Given the description of an element on the screen output the (x, y) to click on. 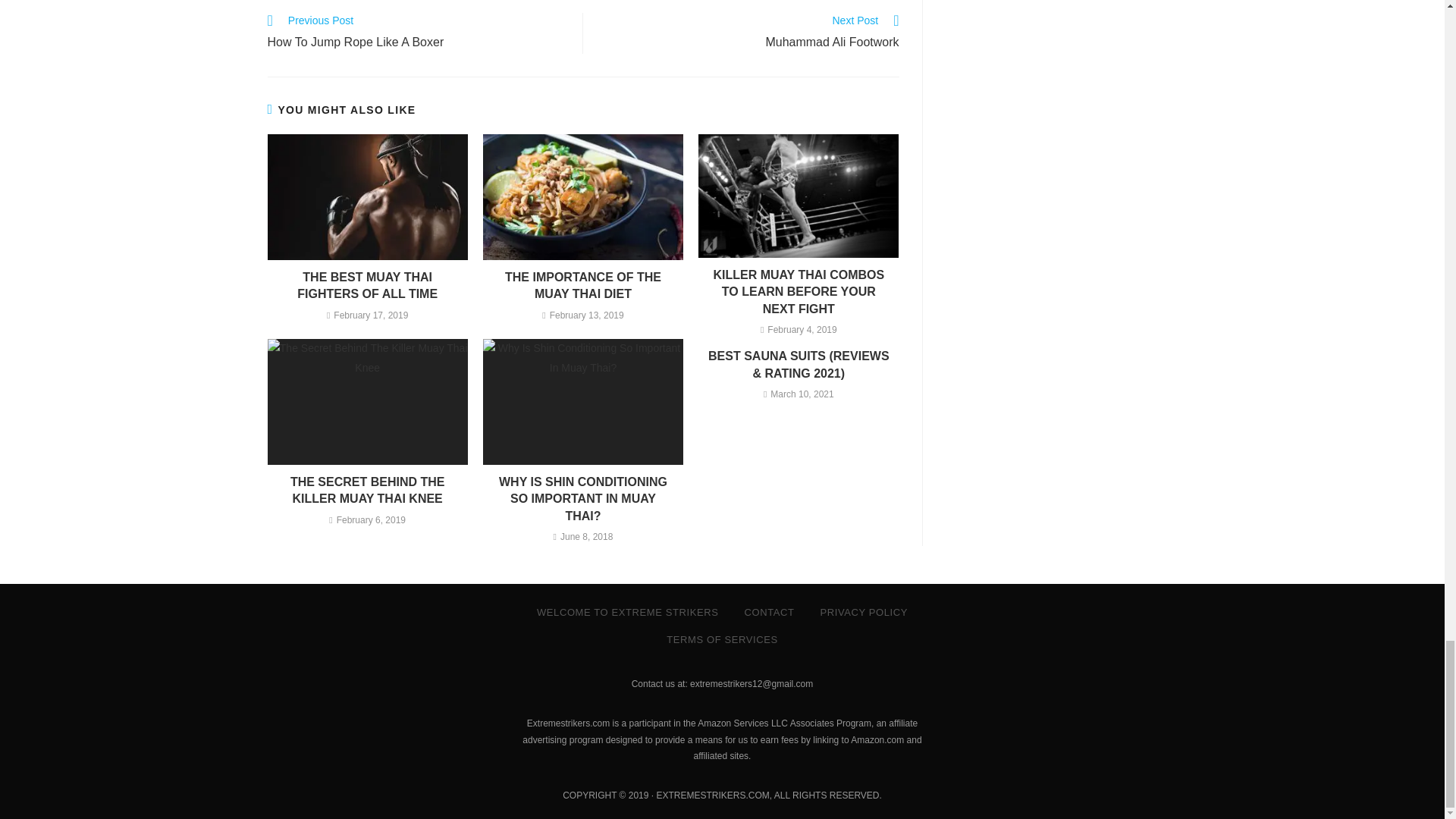
WELCOME TO EXTREME STRIKERS (627, 612)
The Importance Of The Muay Thai Diet (416, 33)
PRIVACY POLICY (583, 286)
THE IMPORTANCE OF THE MUAY THAI DIET (863, 612)
THE SECRET BEHIND THE KILLER MUAY THAI KNEE (583, 286)
Why Is Shin Conditioning So Important In Muay Thai? (748, 33)
CONTACT (367, 490)
THE BEST MUAY THAI FIGHTERS OF ALL TIME (583, 499)
The Best Muay Thai Fighters Of All Time (768, 612)
WHY IS SHIN CONDITIONING SO IMPORTANT IN MUAY THAI? (367, 286)
Killer Muay Thai Combos To Learn Before Your Next Fight (367, 286)
KILLER MUAY THAI COMBOS TO LEARN BEFORE YOUR NEXT FIGHT (583, 499)
TERMS OF SERVICES (798, 291)
